Given the description of an element on the screen output the (x, y) to click on. 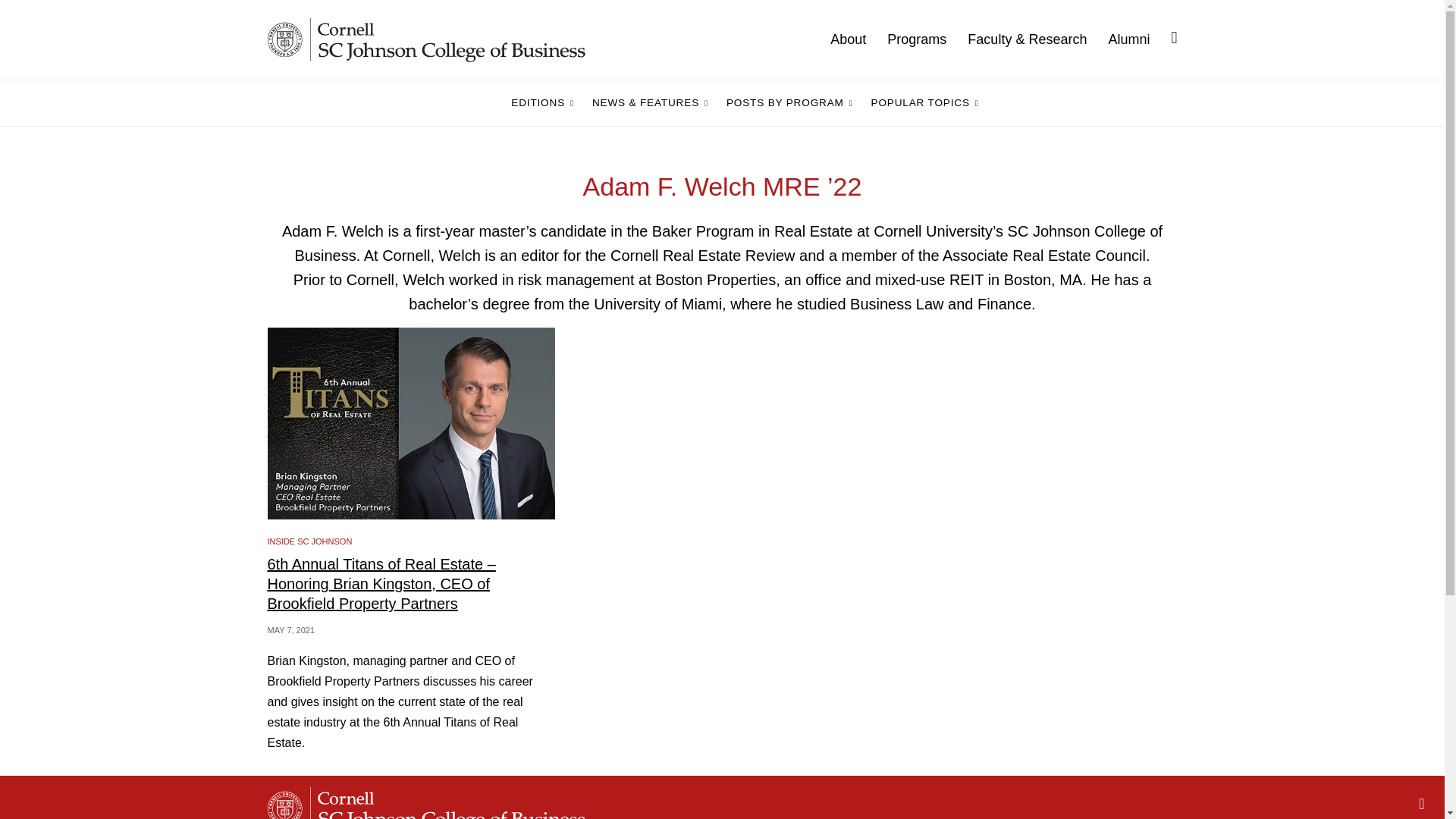
Back to top of page. (1421, 803)
Programs (927, 39)
About (857, 39)
Alumni (1139, 39)
EDITIONS (542, 102)
POSTS BY PROGRAM (789, 102)
POPULAR TOPICS (924, 102)
